Given the description of an element on the screen output the (x, y) to click on. 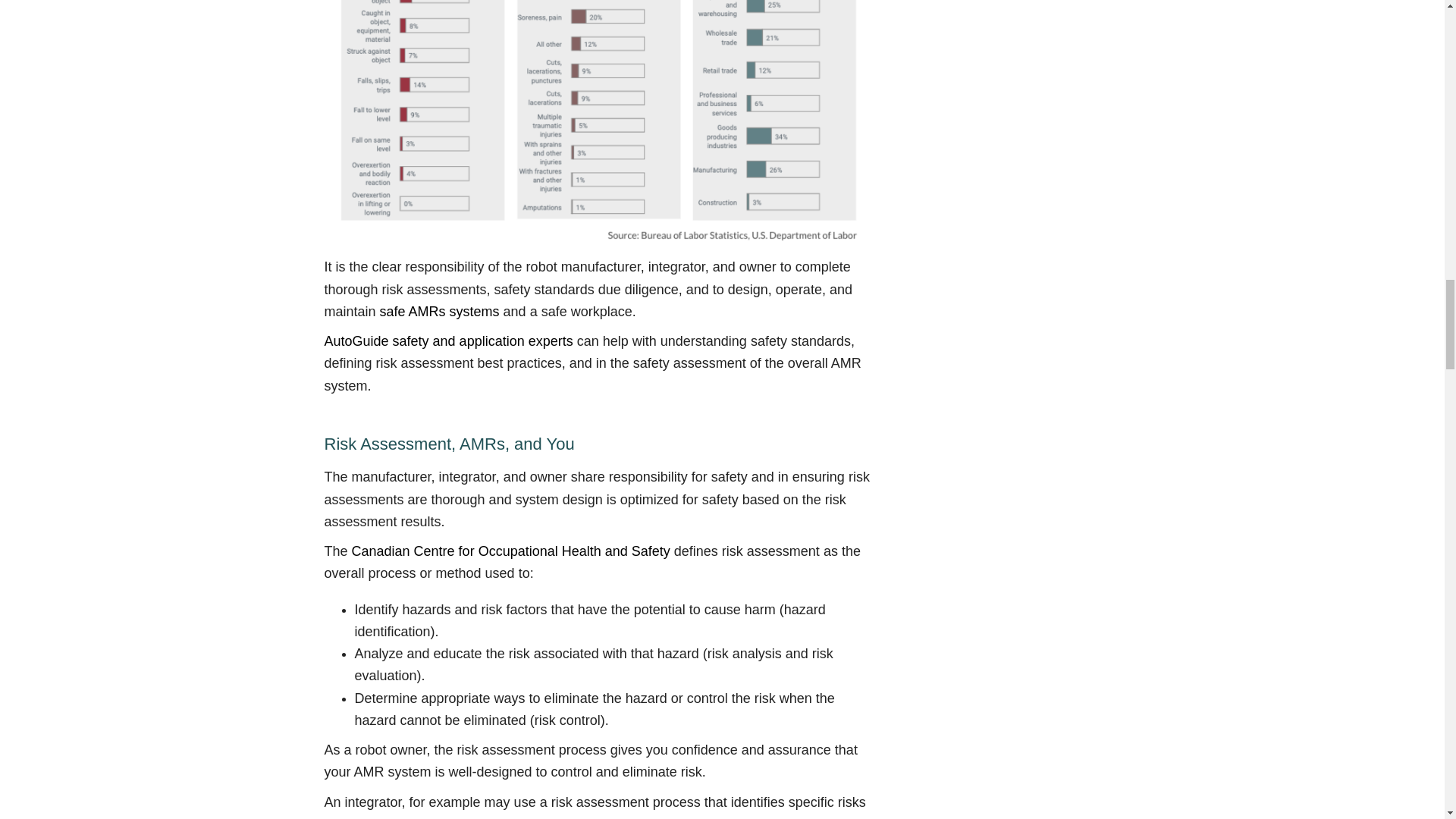
AutoGuide safety and application experts (448, 340)
Canadian Centre for Occupational Health and Safety (510, 550)
safe AMRs systems (439, 311)
